Given the description of an element on the screen output the (x, y) to click on. 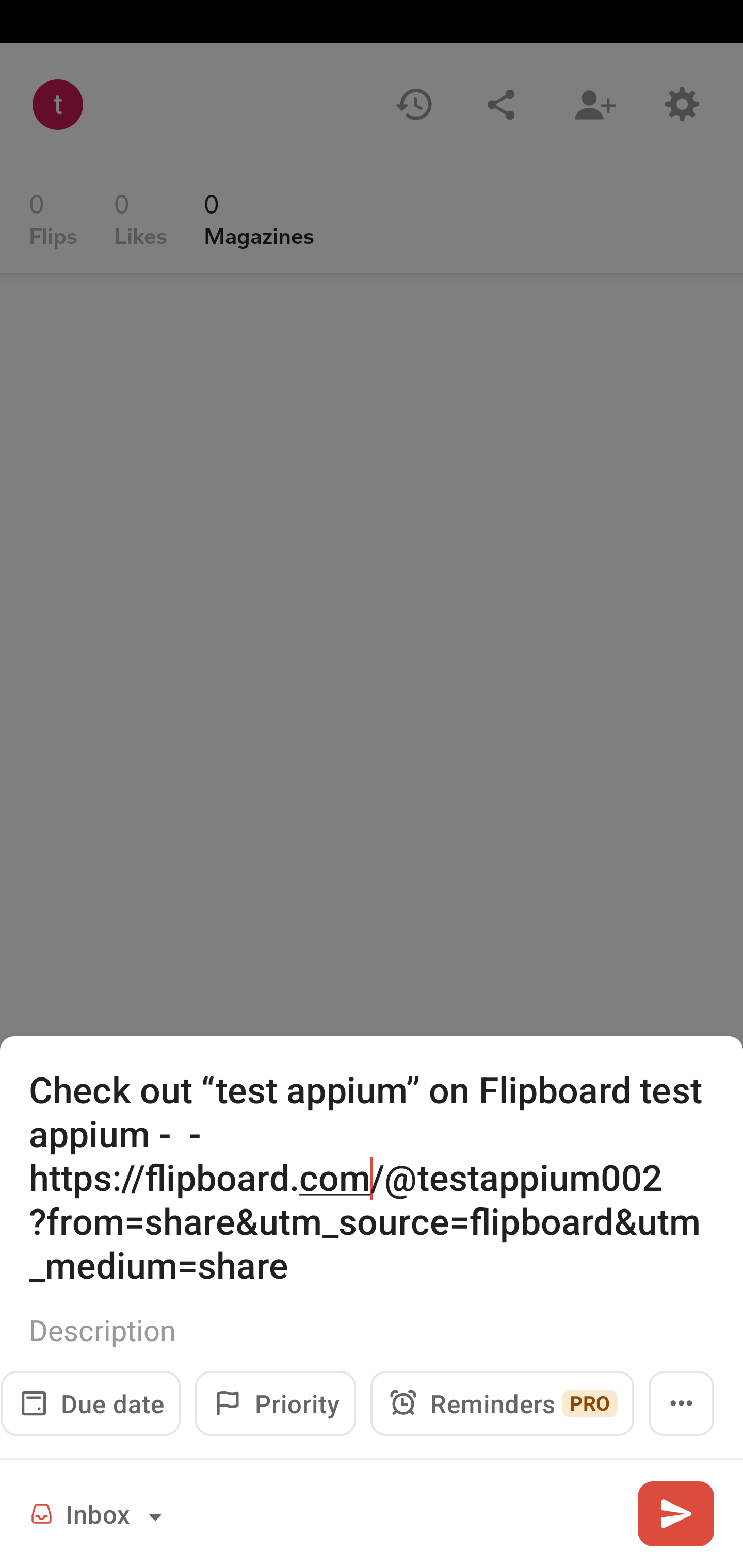
Description (371, 1330)
Due date Date (90, 1403)
Priority (274, 1403)
Reminders PRO Reminders (501, 1403)
Open menu (681, 1403)
Inbox Project (99, 1513)
Add (675, 1513)
